Given the description of an element on the screen output the (x, y) to click on. 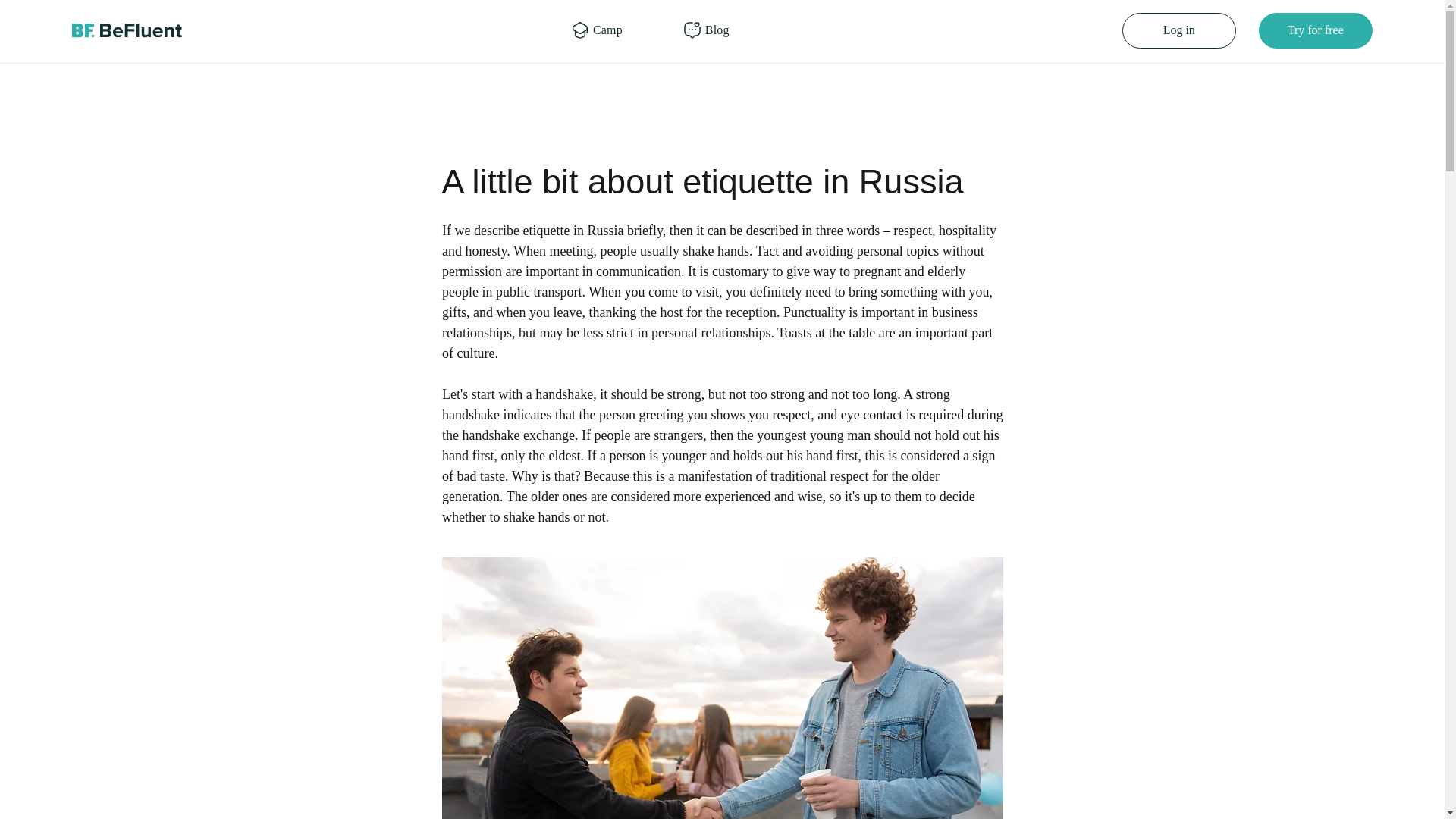
Log in (1179, 29)
Camp (607, 29)
Blog (716, 29)
Try for free (1316, 29)
